Given the description of an element on the screen output the (x, y) to click on. 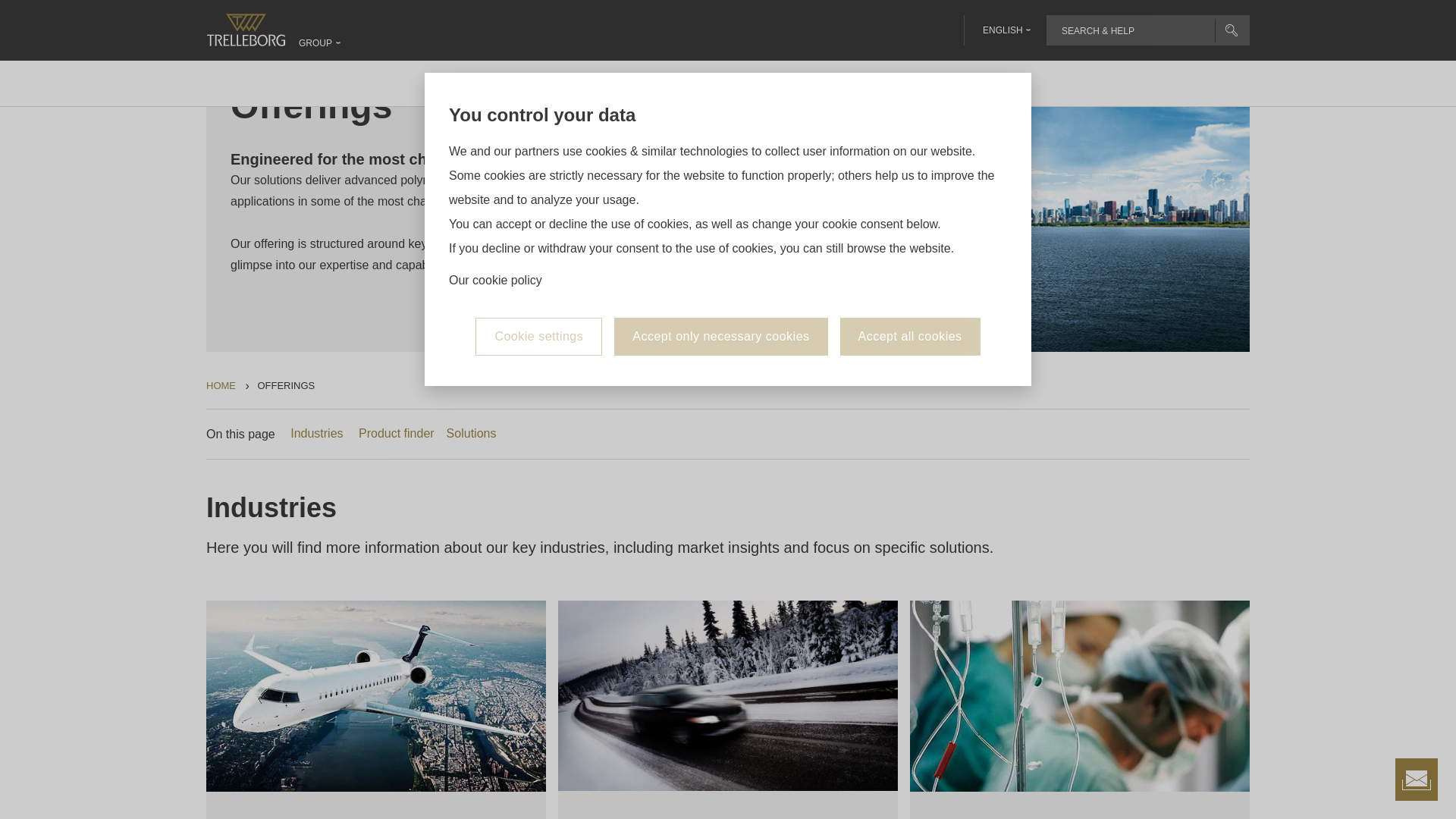
Accept all cookies (909, 230)
Cookie settings (539, 230)
Our cookie policy (494, 174)
Accept only necessary cookies (720, 230)
